Given the description of an element on the screen output the (x, y) to click on. 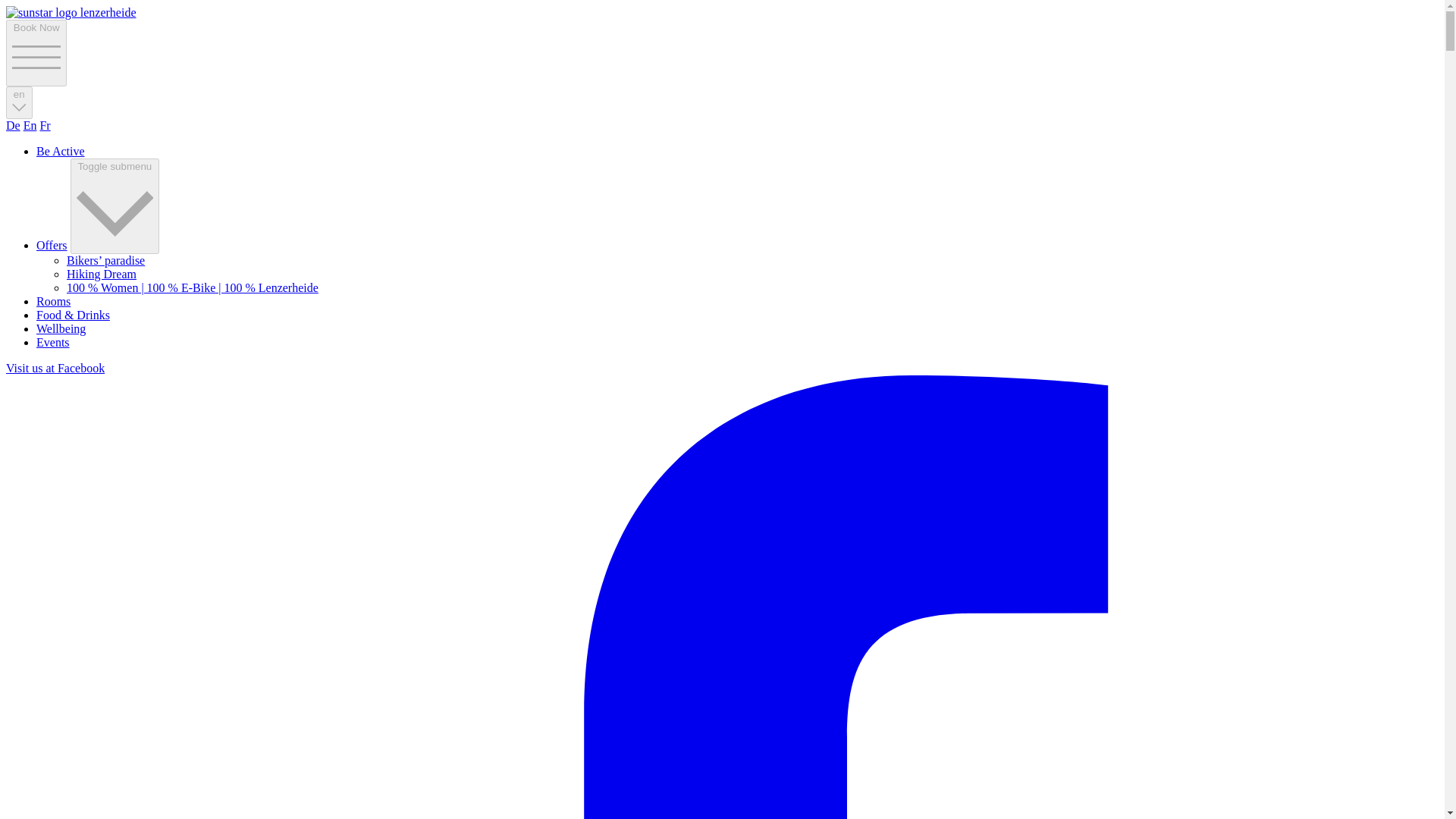
Back to home (70, 11)
sunstar logo lenzerheide (70, 12)
Hiking Dream (101, 273)
Be Active (60, 151)
En (30, 124)
Toggle submenu (114, 205)
Wellbeing (60, 327)
Events (52, 341)
en (18, 102)
De (12, 124)
Rooms (52, 300)
Fr (44, 124)
Book Now (35, 52)
Offers (51, 244)
